Given the description of an element on the screen output the (x, y) to click on. 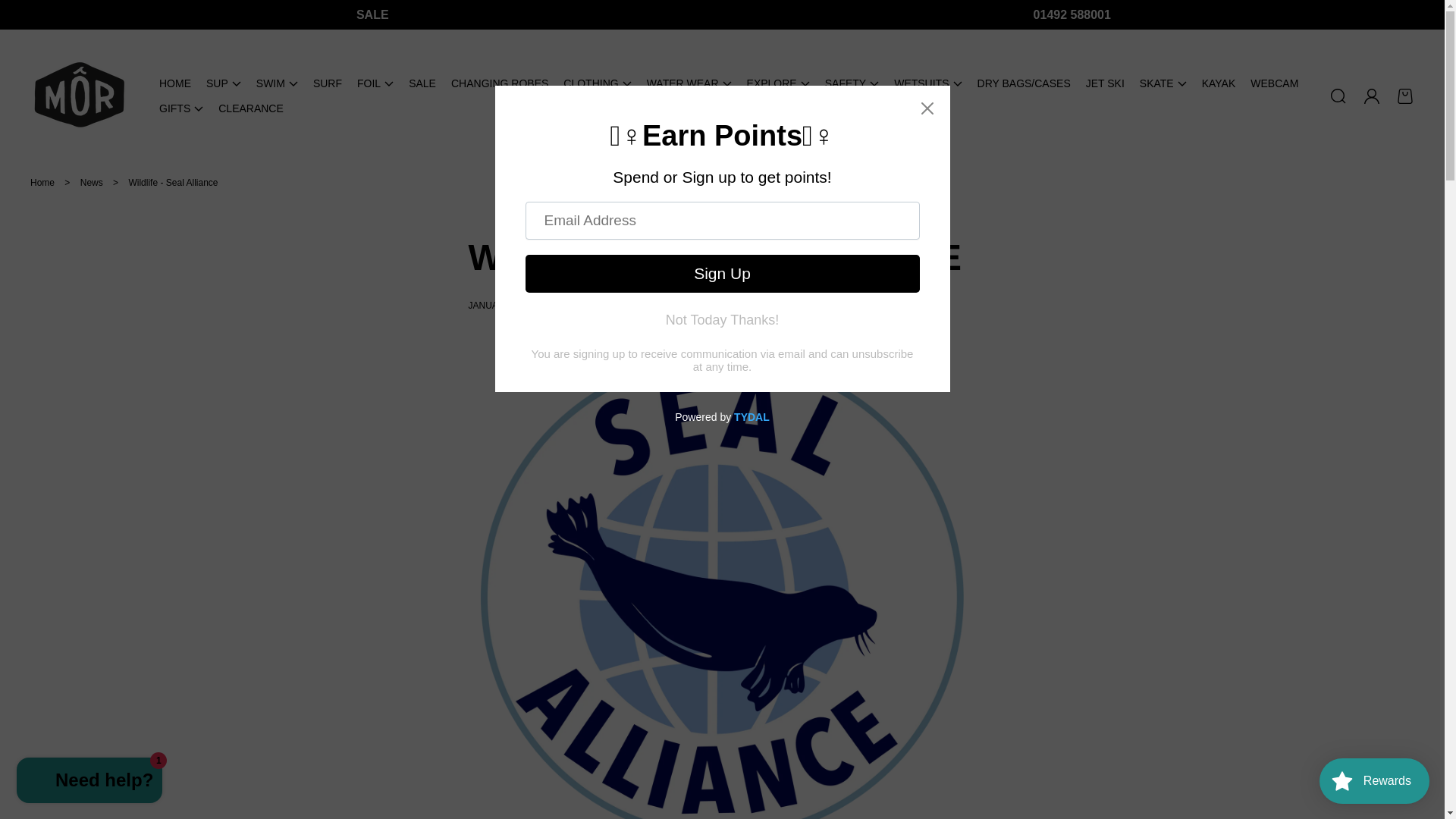
Shopify online store chat (89, 781)
SKIP TO CONTENT (29, 18)
Home (42, 182)
SALE (372, 14)
